Given the description of an element on the screen output the (x, y) to click on. 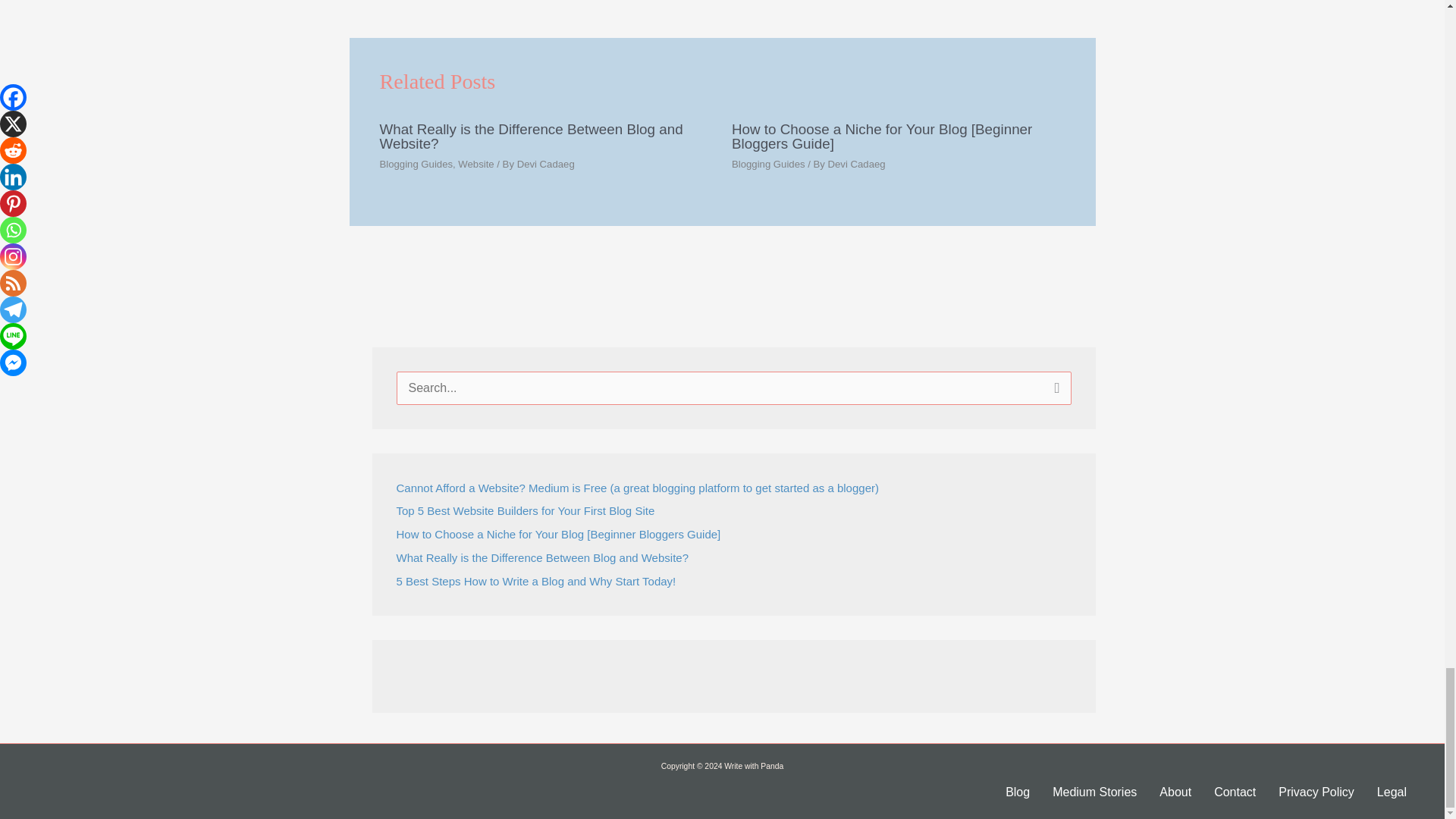
What Really is the Difference Between Blog and Website? (1060, 5)
